Given the description of an element on the screen output the (x, y) to click on. 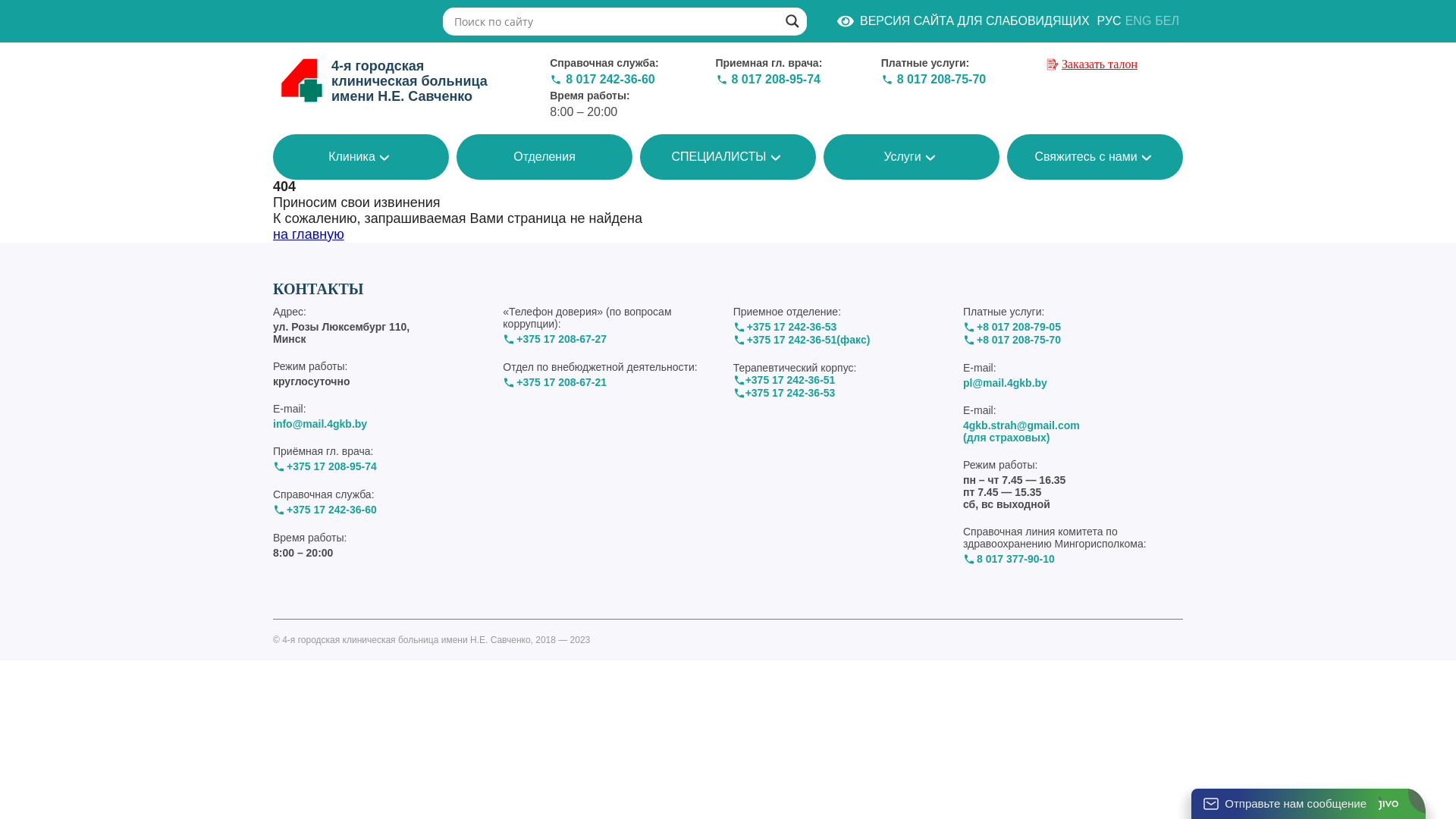
+375 17 242-36-53 Element type: text (791, 326)
+8 017 208-75-70 Element type: text (1018, 339)
+375 17 242-36-53 Element type: text (790, 392)
info@mail.4gkb.by Element type: text (320, 423)
+375 17 208-67-27 Element type: text (561, 338)
ENG Element type: text (1138, 21)
+375 17 242-36-51 Element type: text (790, 379)
8 017 377-90-10 Element type: text (1015, 558)
8 017 242-36-60 Element type: text (609, 79)
+375 17 242-36-60 Element type: text (331, 509)
8 017 208-75-70 Element type: text (941, 79)
+8 017 208-79-05 Element type: text (1018, 326)
+375 17 208-67-21 Element type: text (561, 382)
pl@mail.4gkb.by Element type: text (1005, 382)
8 017 208-95-74 Element type: text (775, 79)
+375 17 208-95-74 Element type: text (331, 466)
